Given the description of an element on the screen output the (x, y) to click on. 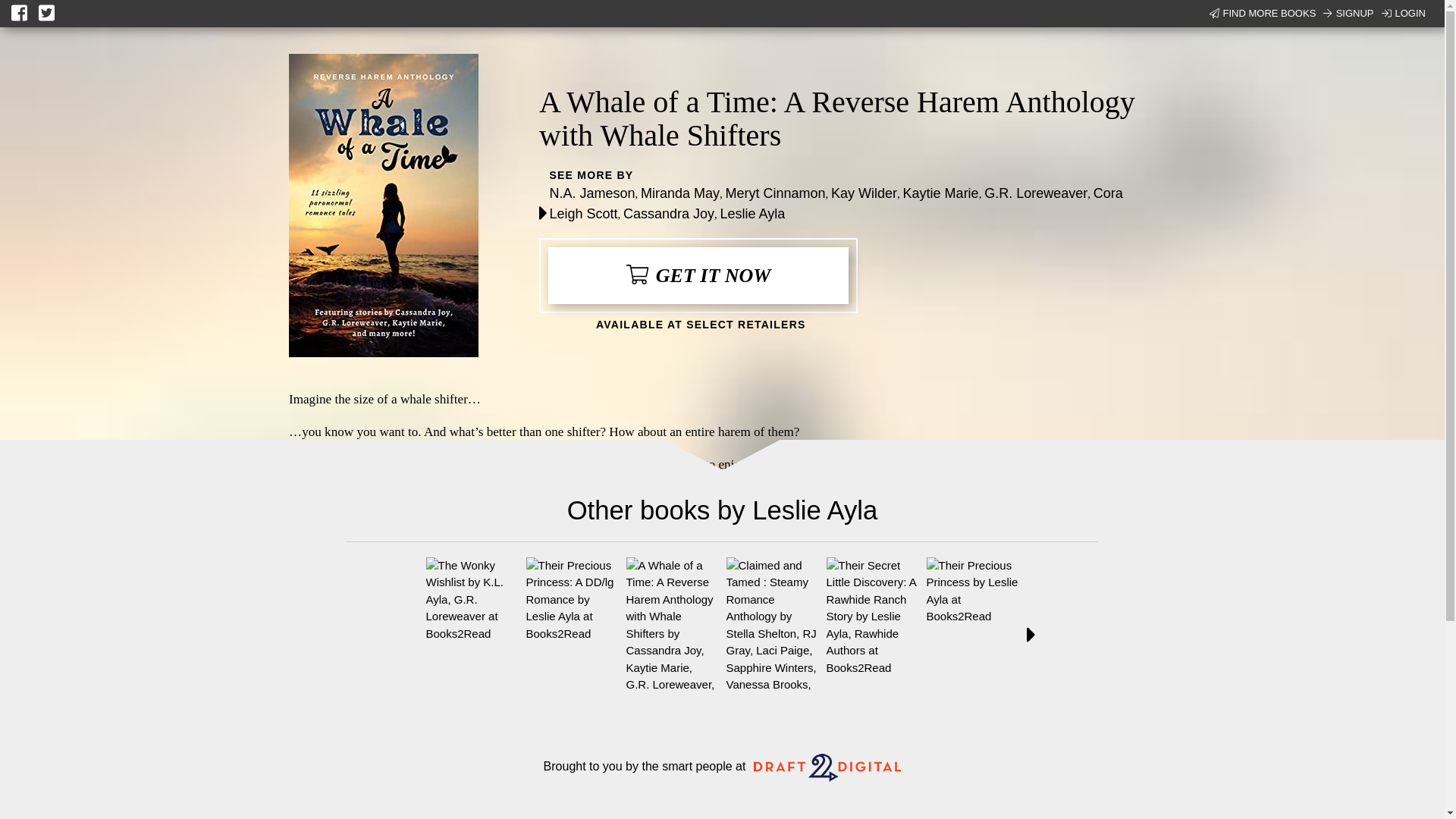
GET IT NOW (698, 275)
Leslie Ayla (753, 213)
FIND MORE BOOKS (1262, 13)
Meryt Cinnamon (775, 192)
G.R. Loreweaver (1035, 192)
N.A. Jameson (591, 192)
Kay Wilder (863, 192)
Cora Leigh Scott (835, 203)
SIGNUP (1348, 13)
Miranda May (679, 192)
LOGIN (1403, 13)
Cassandra Joy (668, 213)
Kaytie Marie (940, 192)
